Given the description of an element on the screen output the (x, y) to click on. 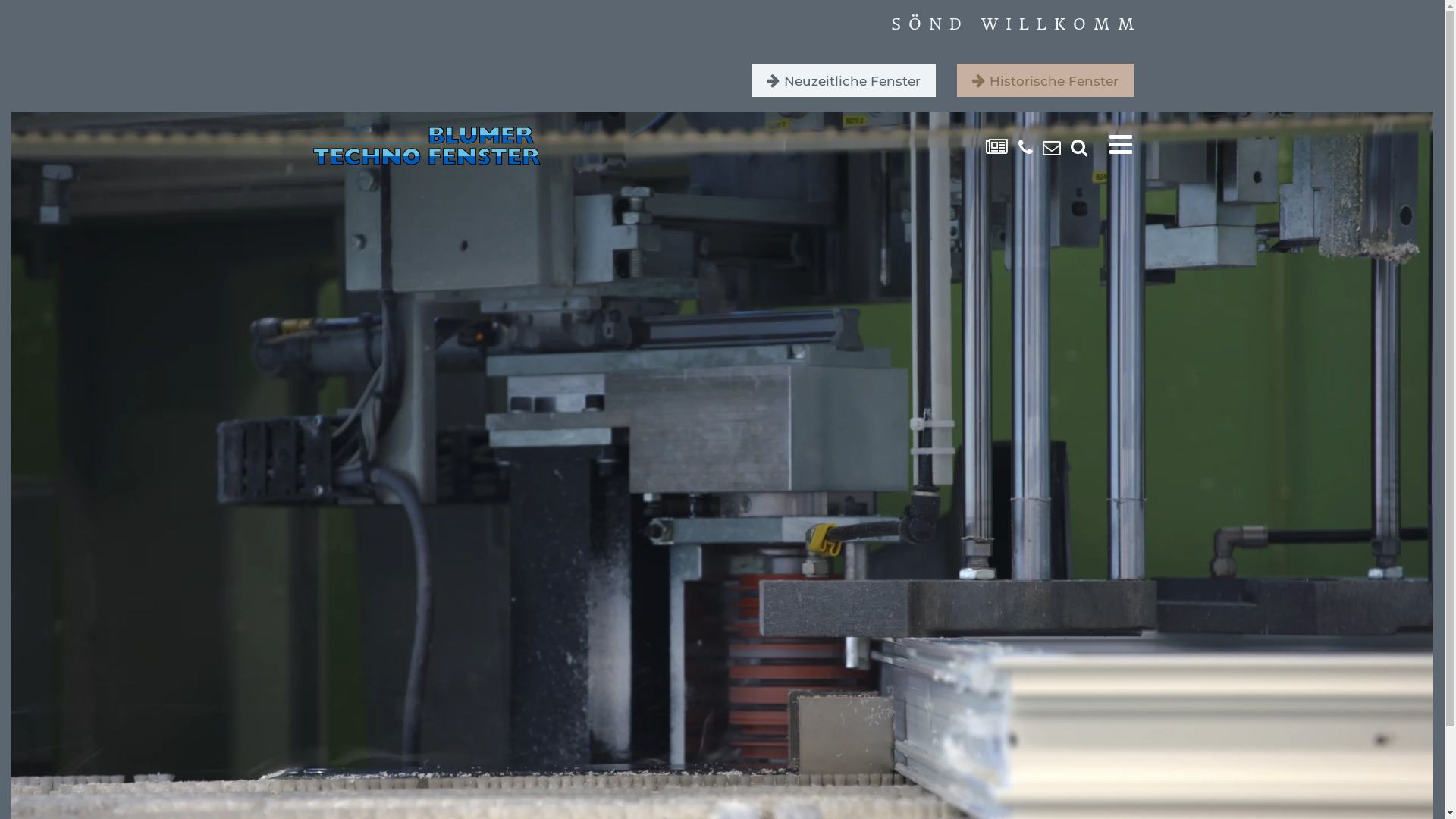
    Element type: text (1109, 144)
  Element type: text (1046, 147)
  Element type: text (1019, 147)
Historische Fenster Element type: text (1045, 80)
Neuzeitliche Fenster Element type: text (842, 80)
  Element type: text (991, 147)
  Element type: text (1073, 147)
